Given the description of an element on the screen output the (x, y) to click on. 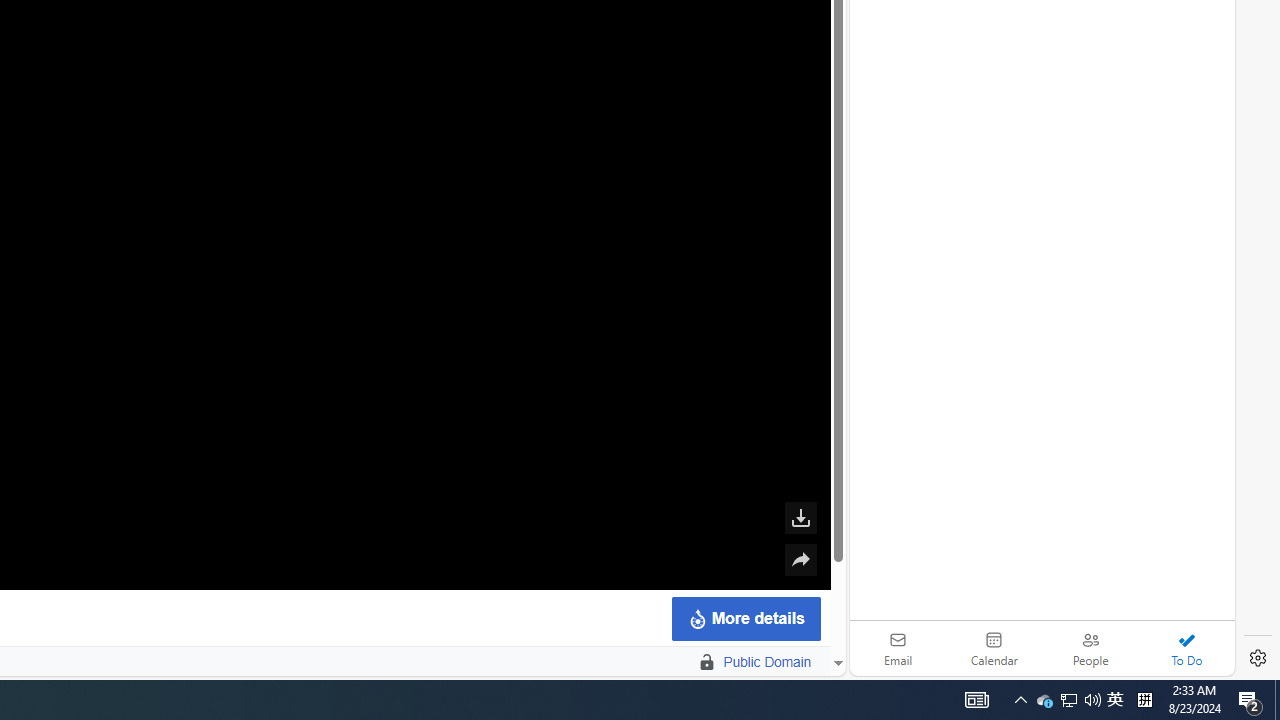
People (1090, 648)
Email (898, 648)
Public Domain (767, 662)
  Public Domain (697, 662)
To Do (1186, 648)
Share or embed this file (800, 560)
Download this file (800, 517)
Calendar. Date today is 22 (994, 648)
More details (745, 618)
